Given the description of an element on the screen output the (x, y) to click on. 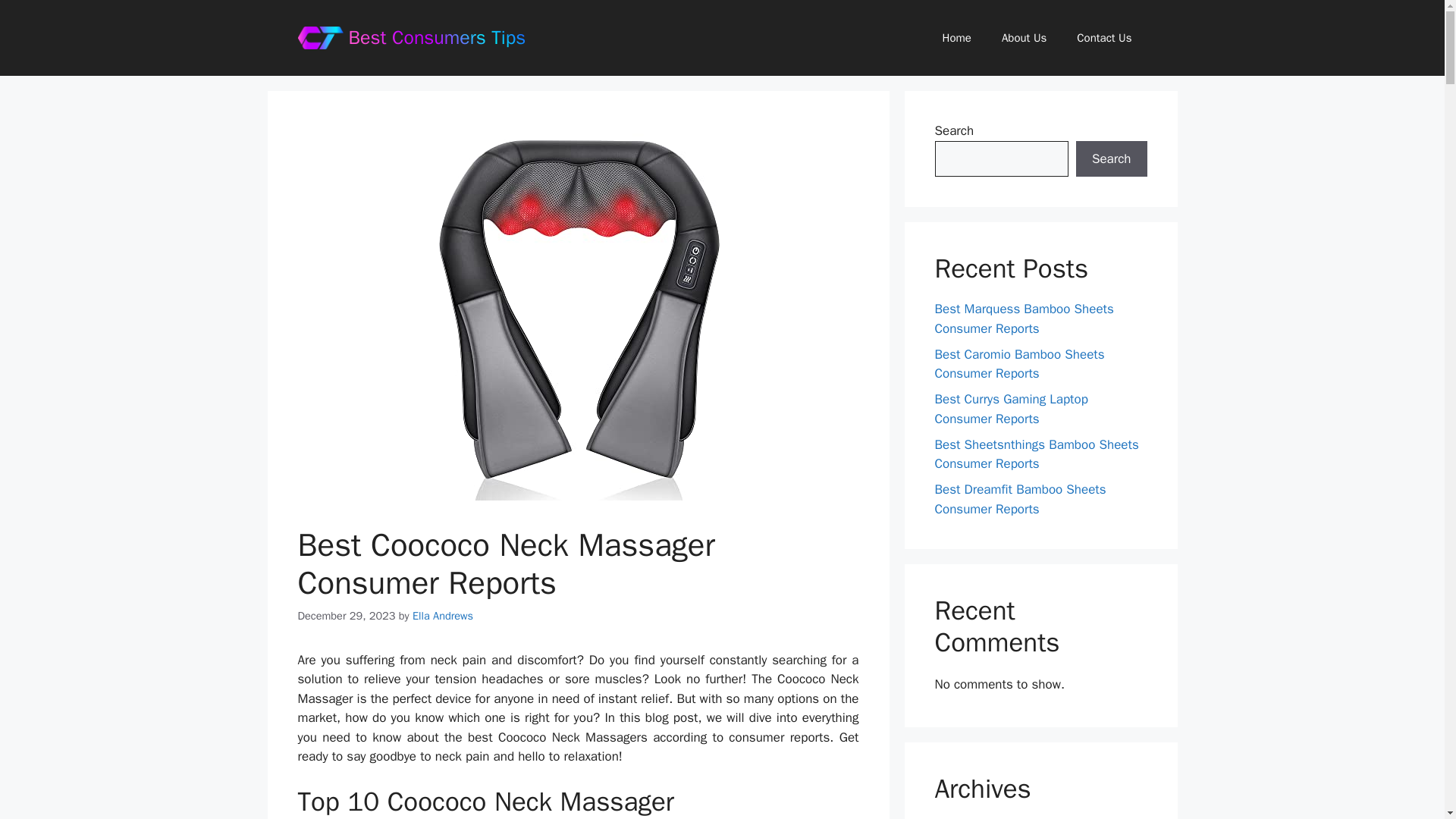
Ella Andrews (442, 615)
About Us (1024, 37)
Best Consumers Tips (437, 37)
Home (957, 37)
Contact Us (1104, 37)
View all posts by Ella Andrews (442, 615)
